Given the description of an element on the screen output the (x, y) to click on. 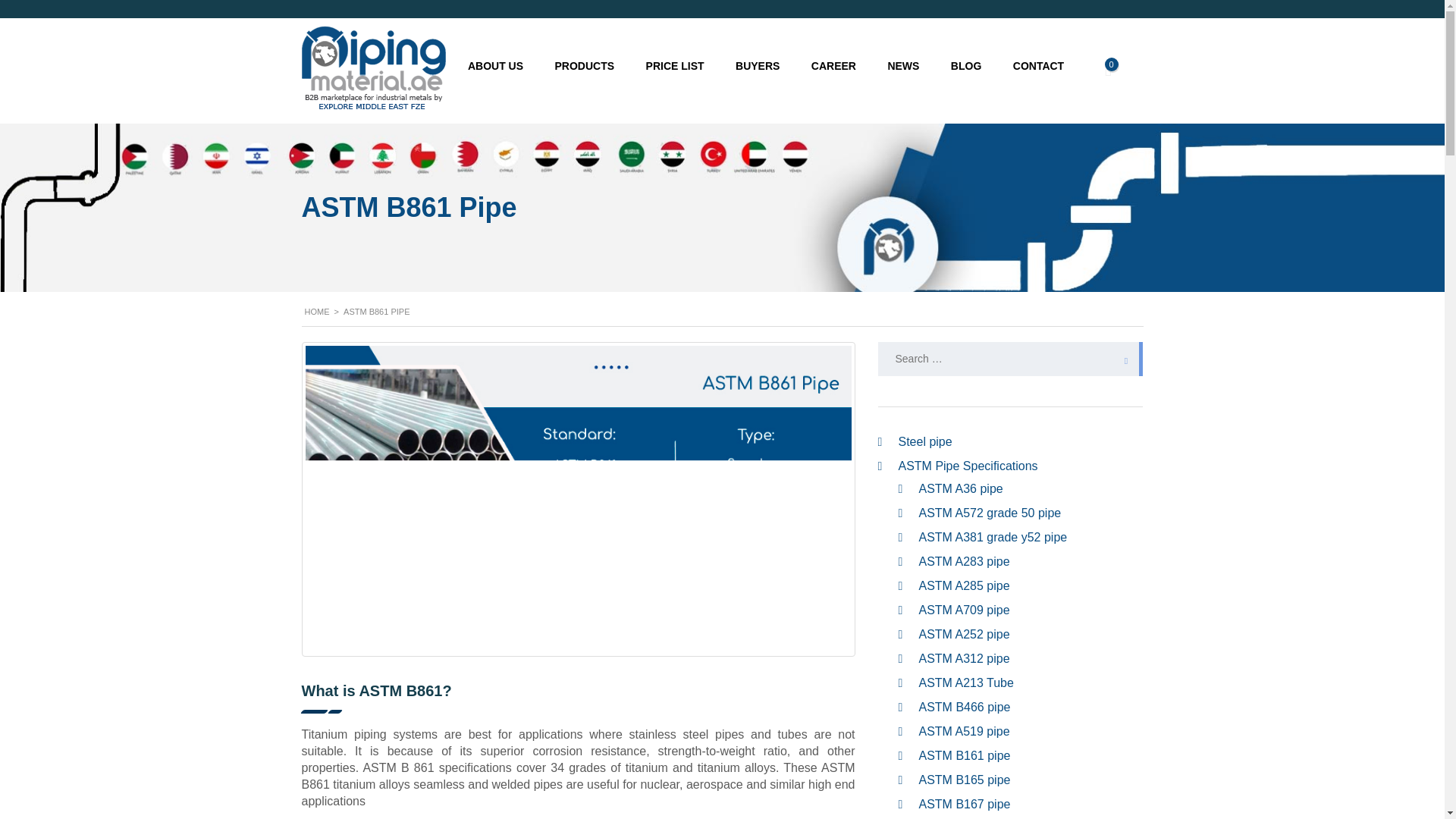
ASTM A519 pipe (964, 730)
ASTM A213 Tube (965, 682)
CAREER (833, 65)
ASTM A312 pipe (964, 658)
CONTACT (1038, 65)
ASTM A572 grade 50 pipe (989, 512)
ABOUT US (494, 65)
Go to Home. (317, 311)
ASTM A285 pipe (964, 585)
ASTM A252 pipe (964, 634)
